Given the description of an element on the screen output the (x, y) to click on. 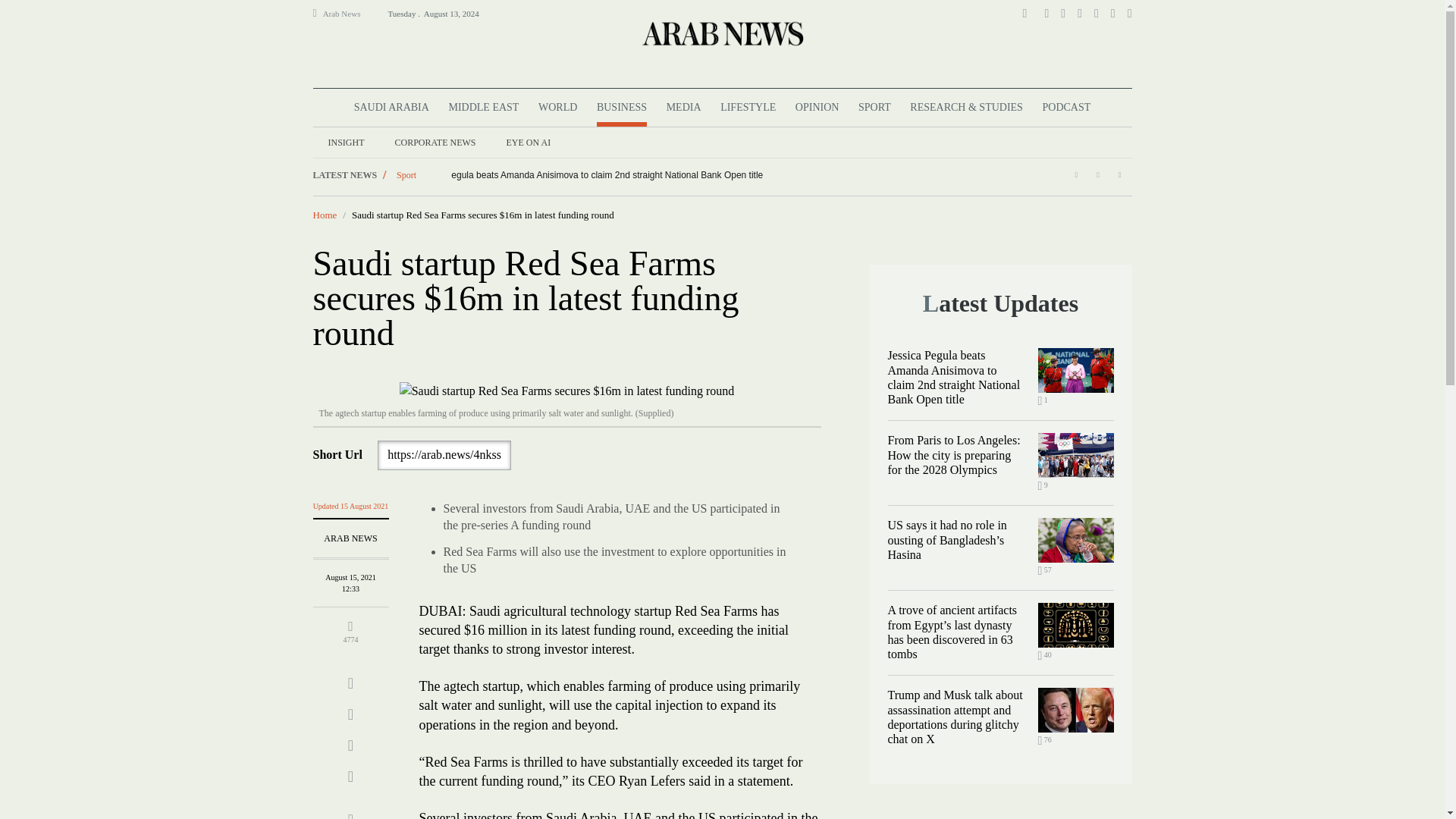
Arab News (348, 13)
Arabnews (721, 33)
